Given the description of an element on the screen output the (x, y) to click on. 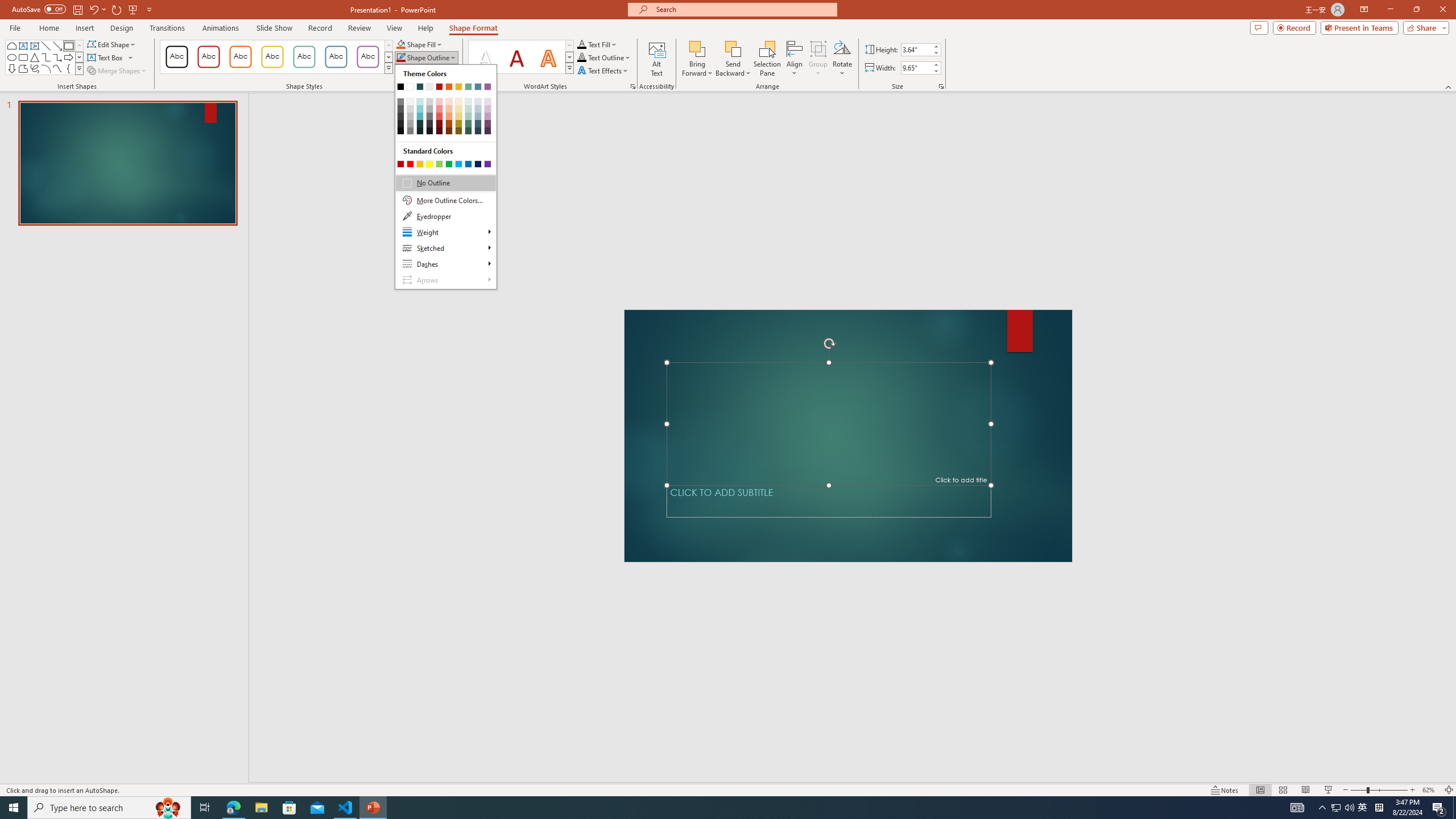
Colored Outline - Blue-Gray, Accent 5 (336, 56)
Text Fill RGB(0, 0, 0) (581, 44)
